Given the description of an element on the screen output the (x, y) to click on. 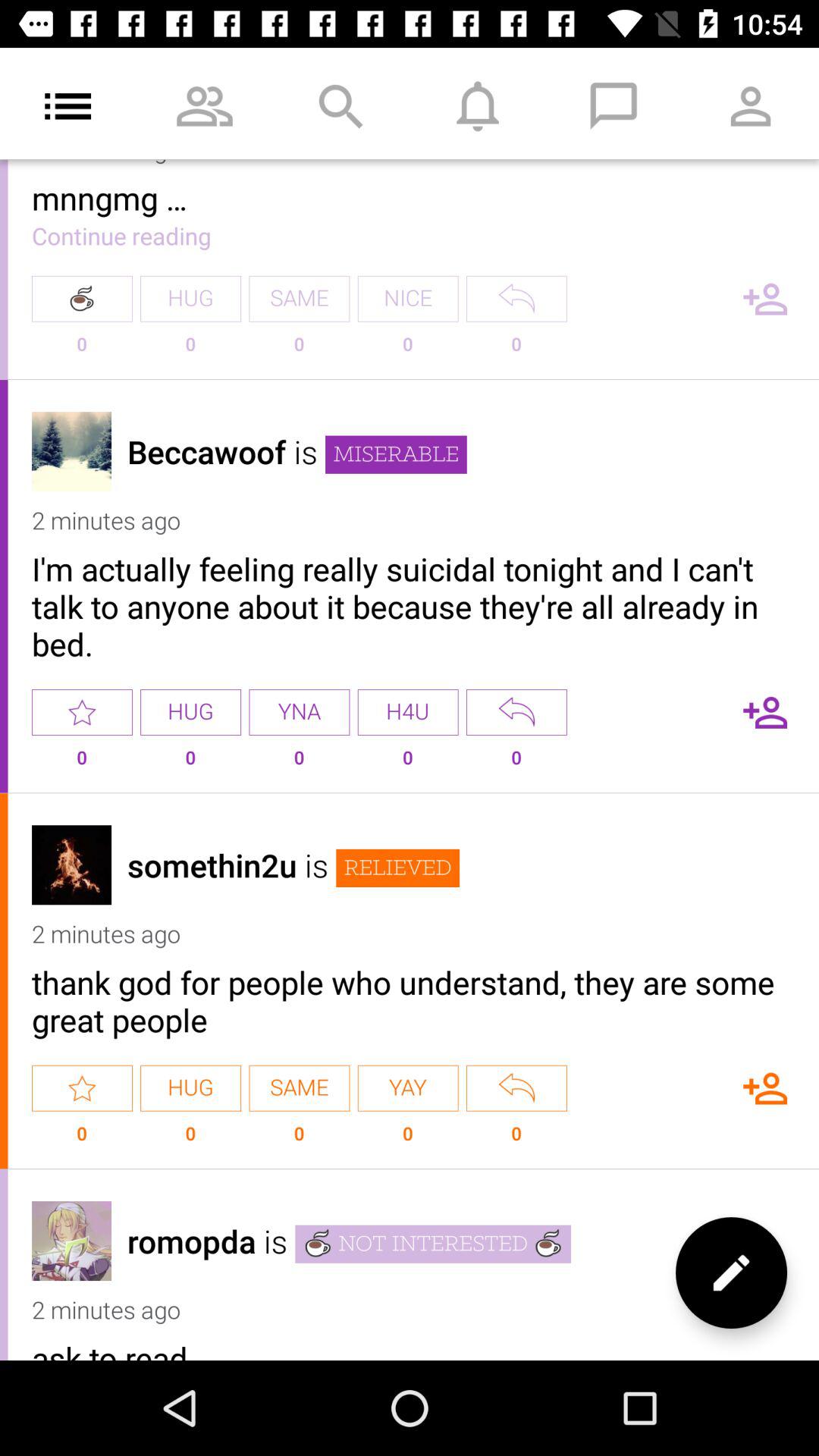
click for profile (71, 451)
